Given the description of an element on the screen output the (x, y) to click on. 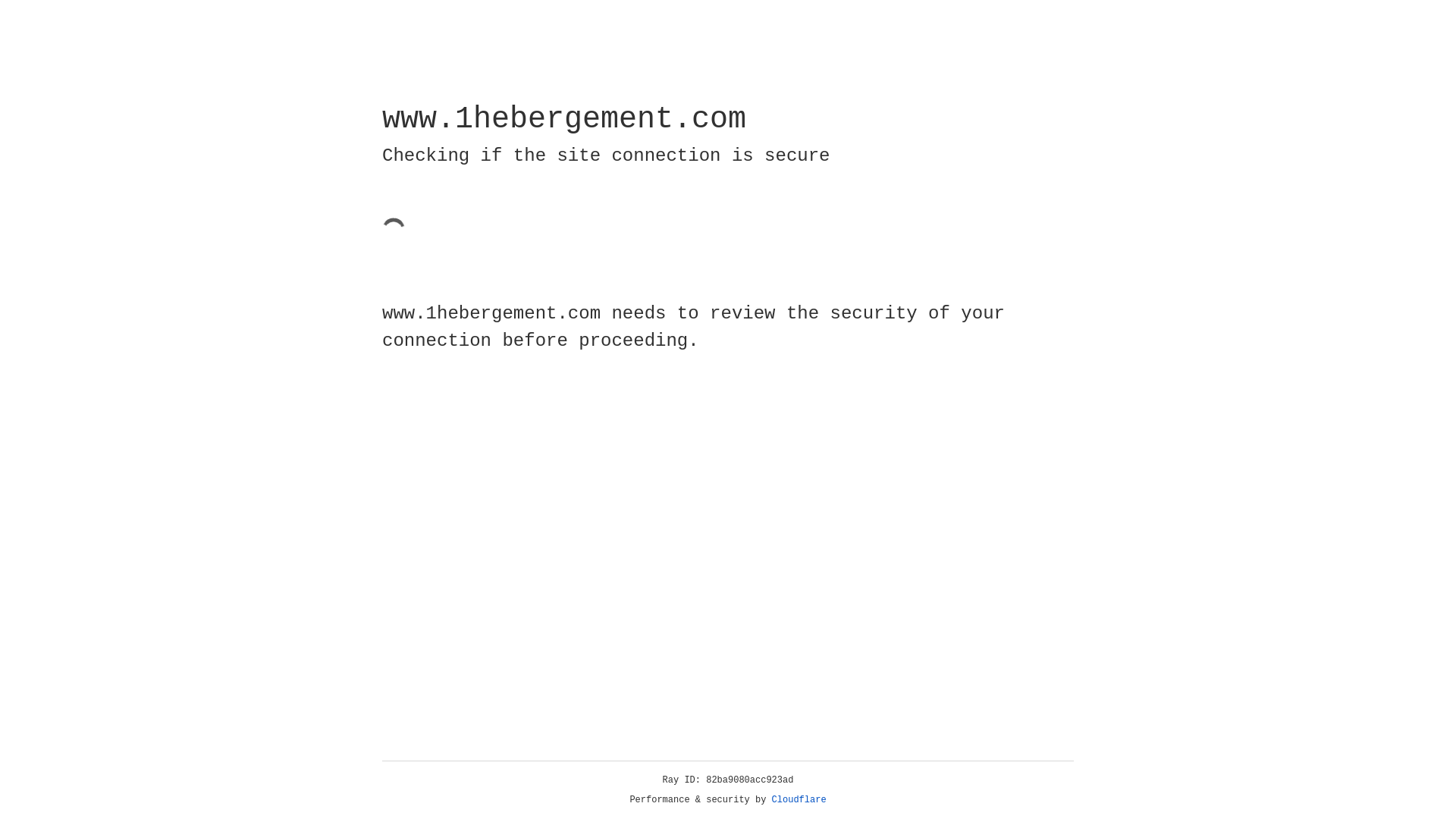
Cloudflare Element type: text (798, 799)
